Given the description of an element on the screen output the (x, y) to click on. 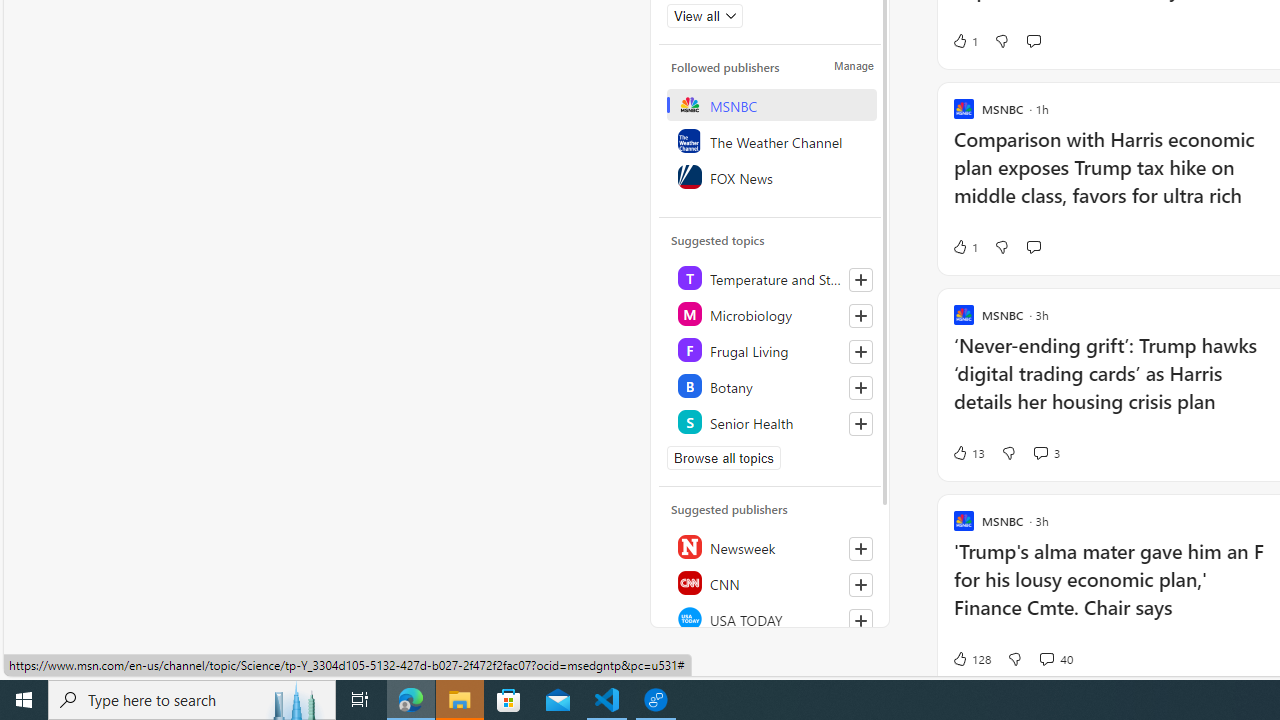
View comments 3 Comment (1045, 452)
Browse all topics (724, 457)
MSNBC (771, 104)
Follow this topic (860, 423)
Newsweek (771, 547)
Follow this source (860, 620)
128 Like (970, 659)
FOX News (771, 176)
1 Like (964, 246)
